Given the description of an element on the screen output the (x, y) to click on. 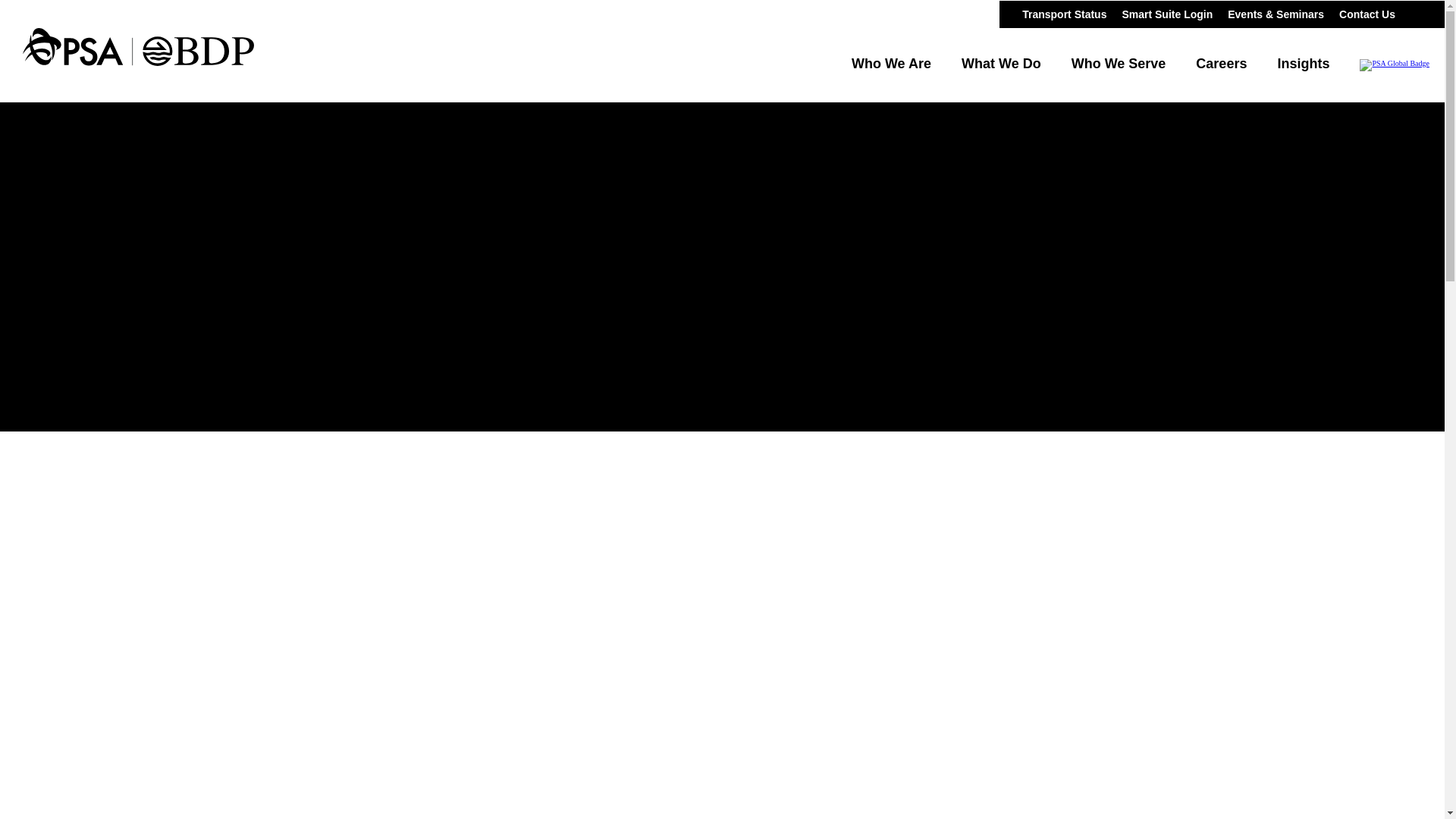
Contact Us (1366, 13)
Transport Status (1064, 13)
Smart Suite Login (1166, 13)
